Given the description of an element on the screen output the (x, y) to click on. 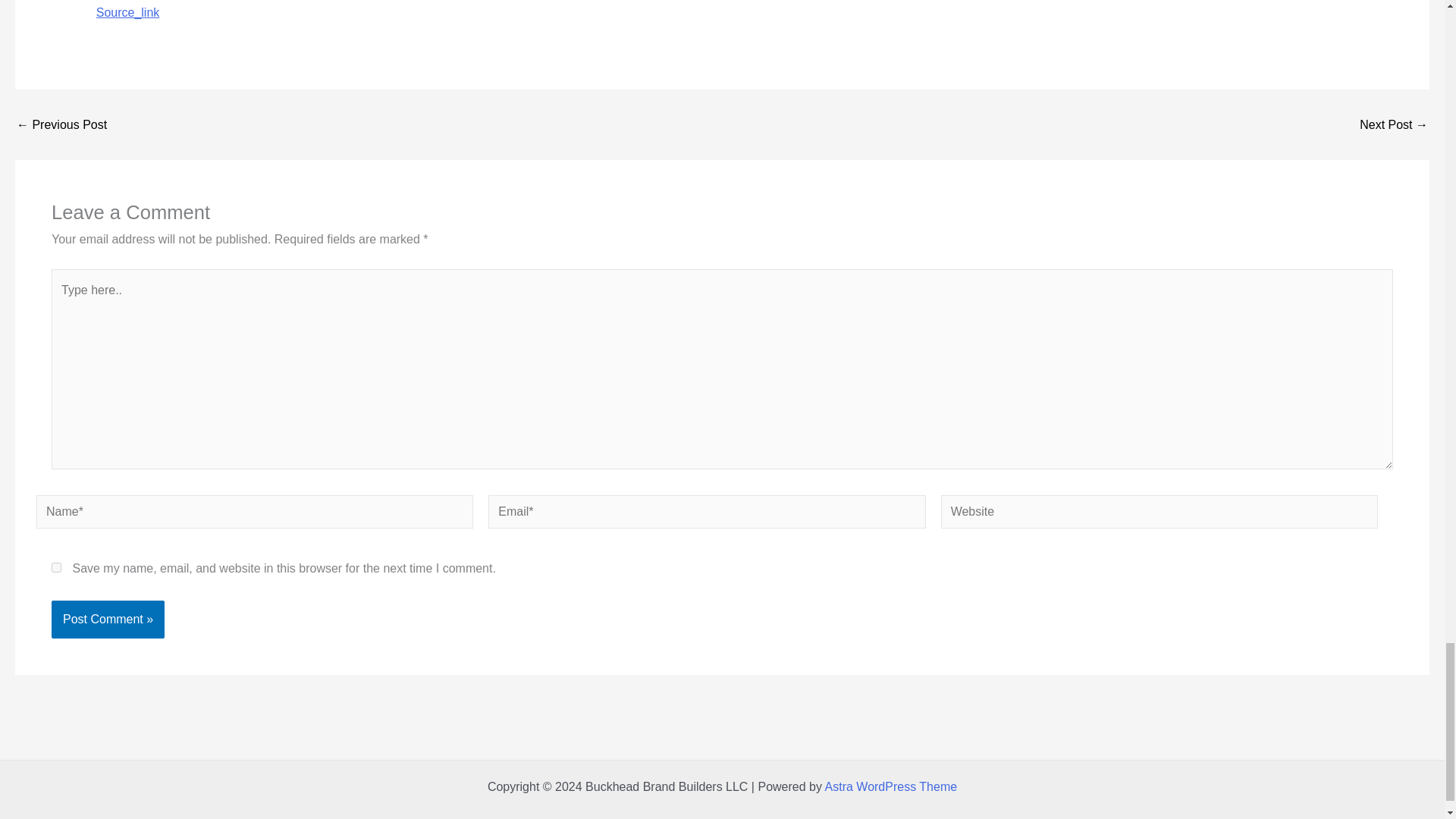
Airbnb CMO Ditches Efficiency for Daring Model Campaigns (1393, 124)
yes (55, 567)
